Given the description of an element on the screen output the (x, y) to click on. 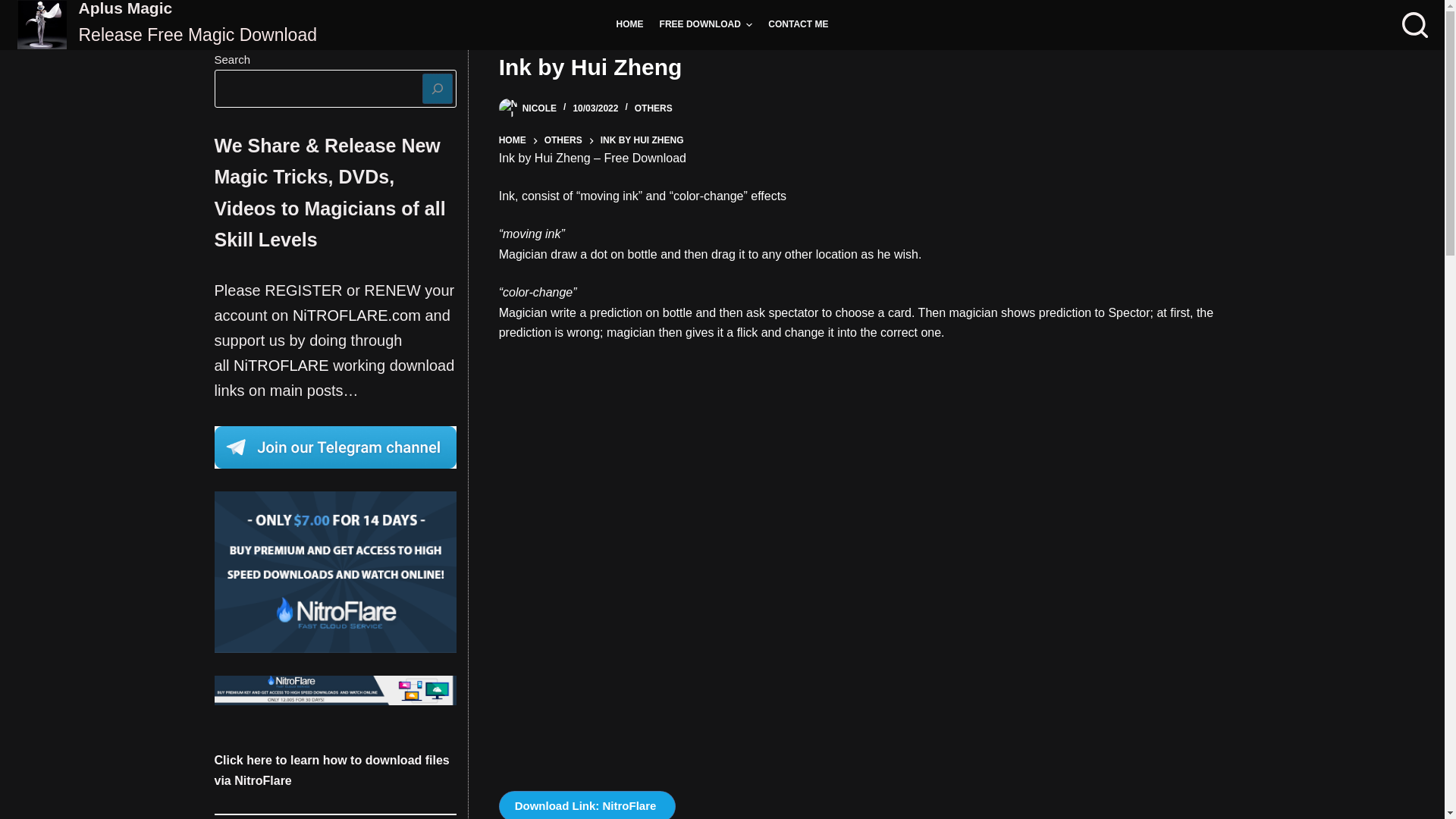
Skip to content (15, 7)
HOME (629, 24)
Posts by Nicole (539, 108)
Ink by Hui Zheng (864, 66)
FREE DOWNLOAD (705, 24)
CONTACT ME (797, 24)
Aplus Magic (125, 8)
